Given the description of an element on the screen output the (x, y) to click on. 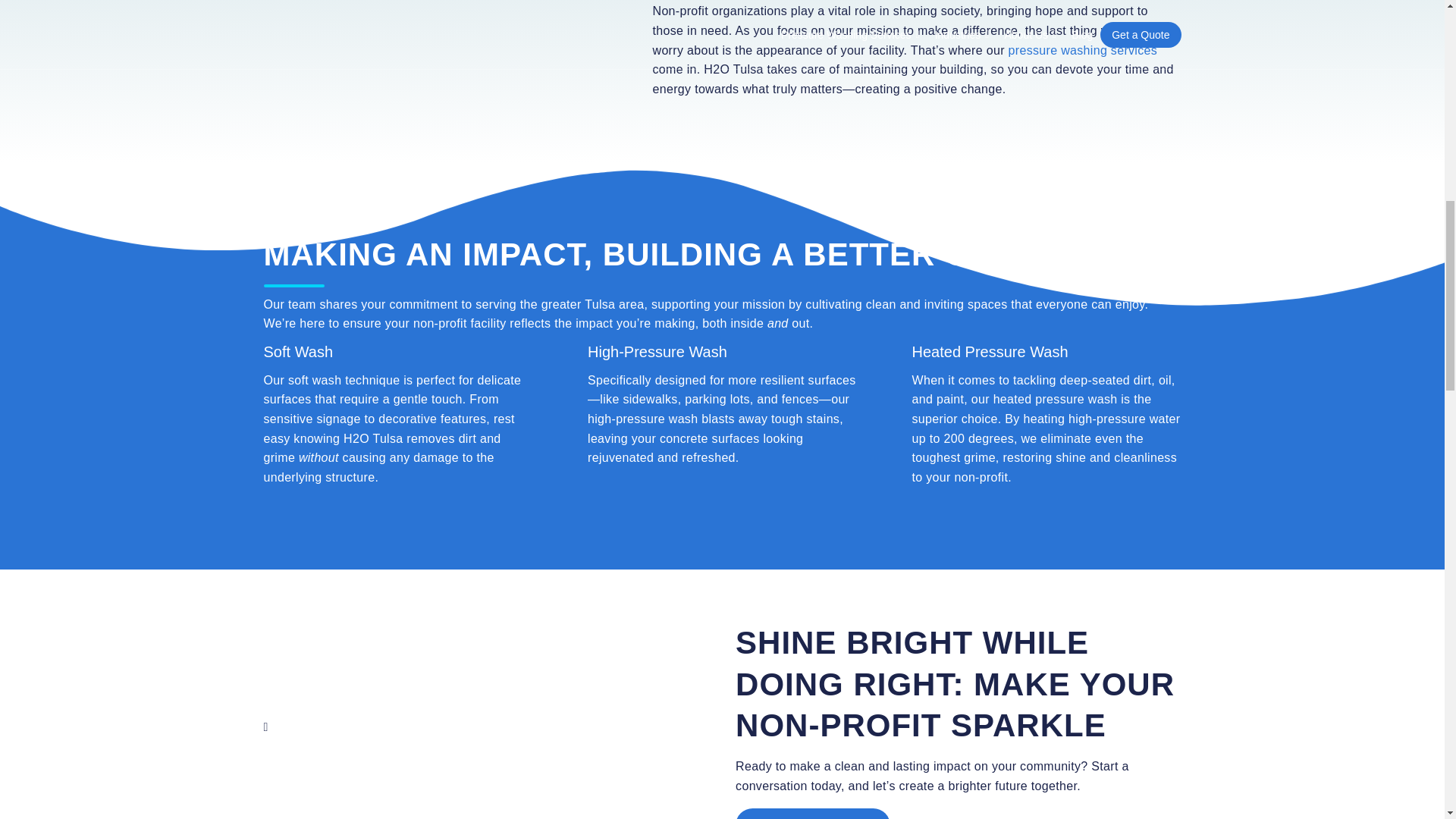
greater Tulsa area (593, 303)
pressure washing services (1083, 50)
GET MY FREE QUOTE (812, 813)
fences (799, 399)
parking lots (716, 399)
